Given the description of an element on the screen output the (x, y) to click on. 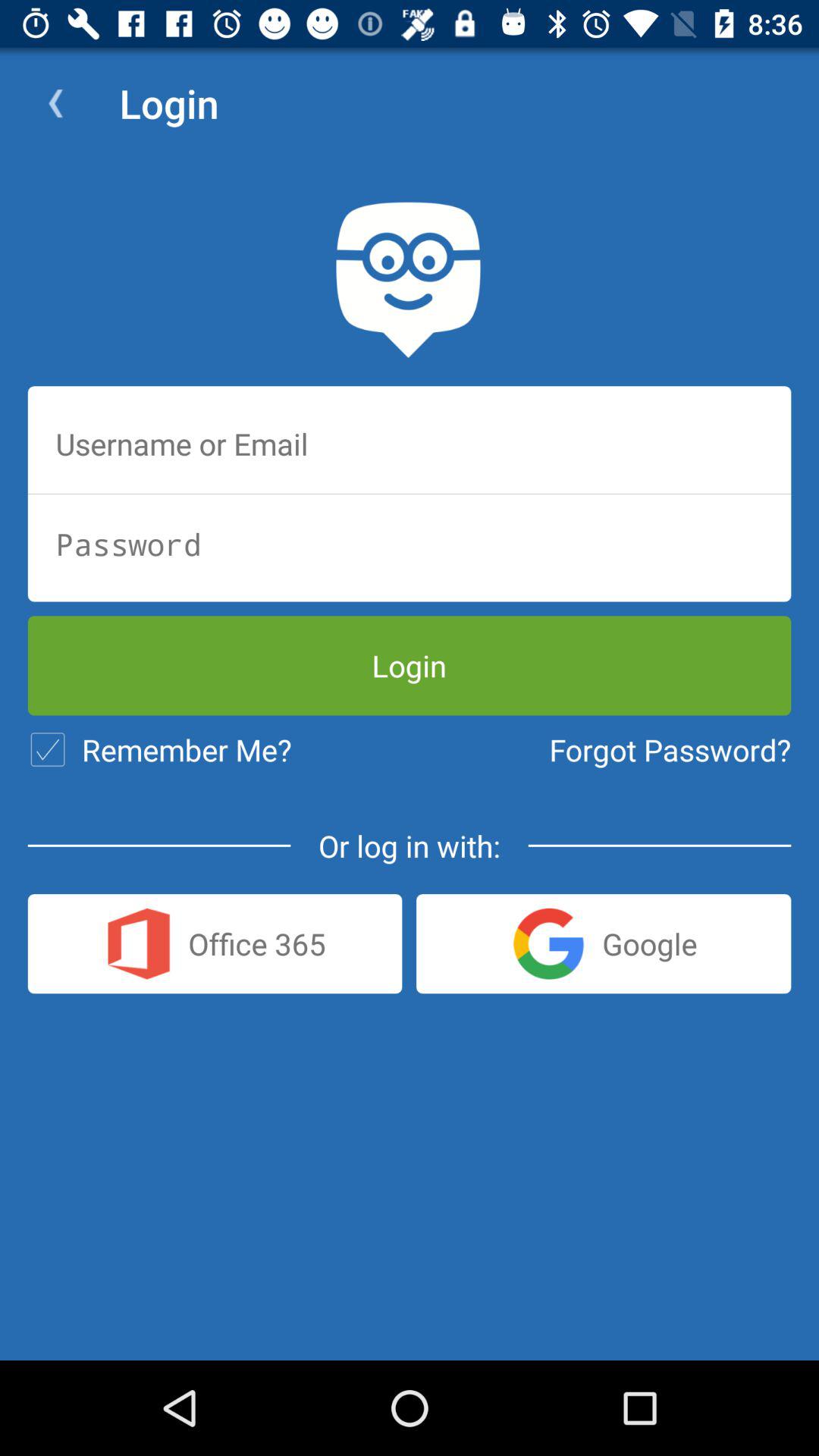
input the password (409, 543)
